Given the description of an element on the screen output the (x, y) to click on. 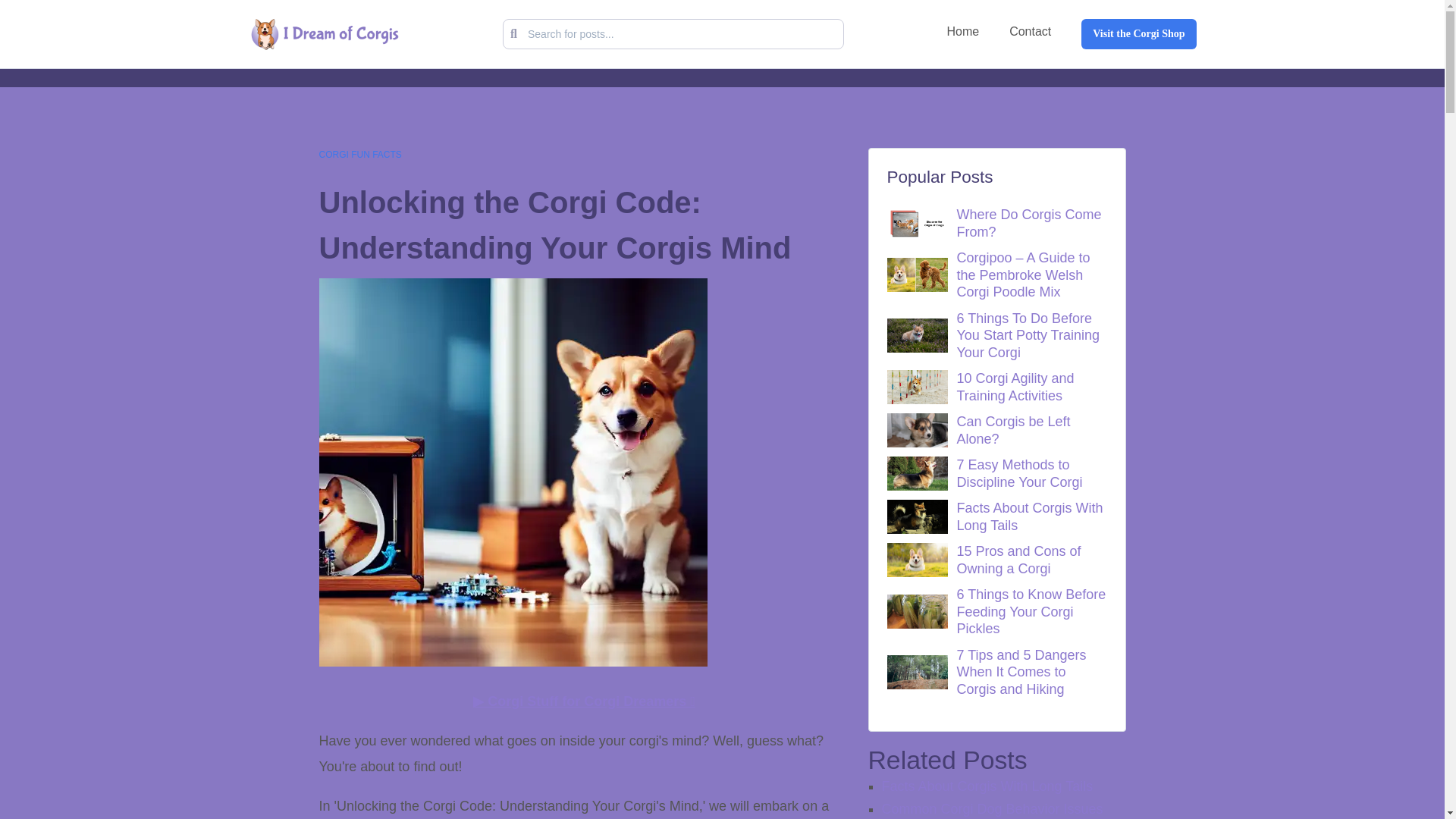
Contact (1030, 31)
15 Pros and Cons of Owning a Corgi (1026, 559)
Home (962, 31)
Facts About Corgis With Long Tails (1026, 516)
10 Corgi Agility and Training Activities (1026, 387)
6 Things To Do Before You Start Potty Training Your Corgi (1026, 335)
CORGI FUN FACTS (359, 155)
6 Things to Know Before Feeding Your Corgi Pickles (1026, 612)
7 Tips and 5 Dangers When It Comes to Corgis and Hiking (1026, 672)
Facts About Corgis With Long Tails (986, 785)
Can Corgis be Left Alone? (1026, 430)
Common Corgi Dog Behavior Issues (991, 808)
Visit the Corgi Shop (1138, 33)
Where Do Corgis Come From? (1026, 223)
7 Easy Methods to Discipline Your Corgi (1026, 473)
